Given the description of an element on the screen output the (x, y) to click on. 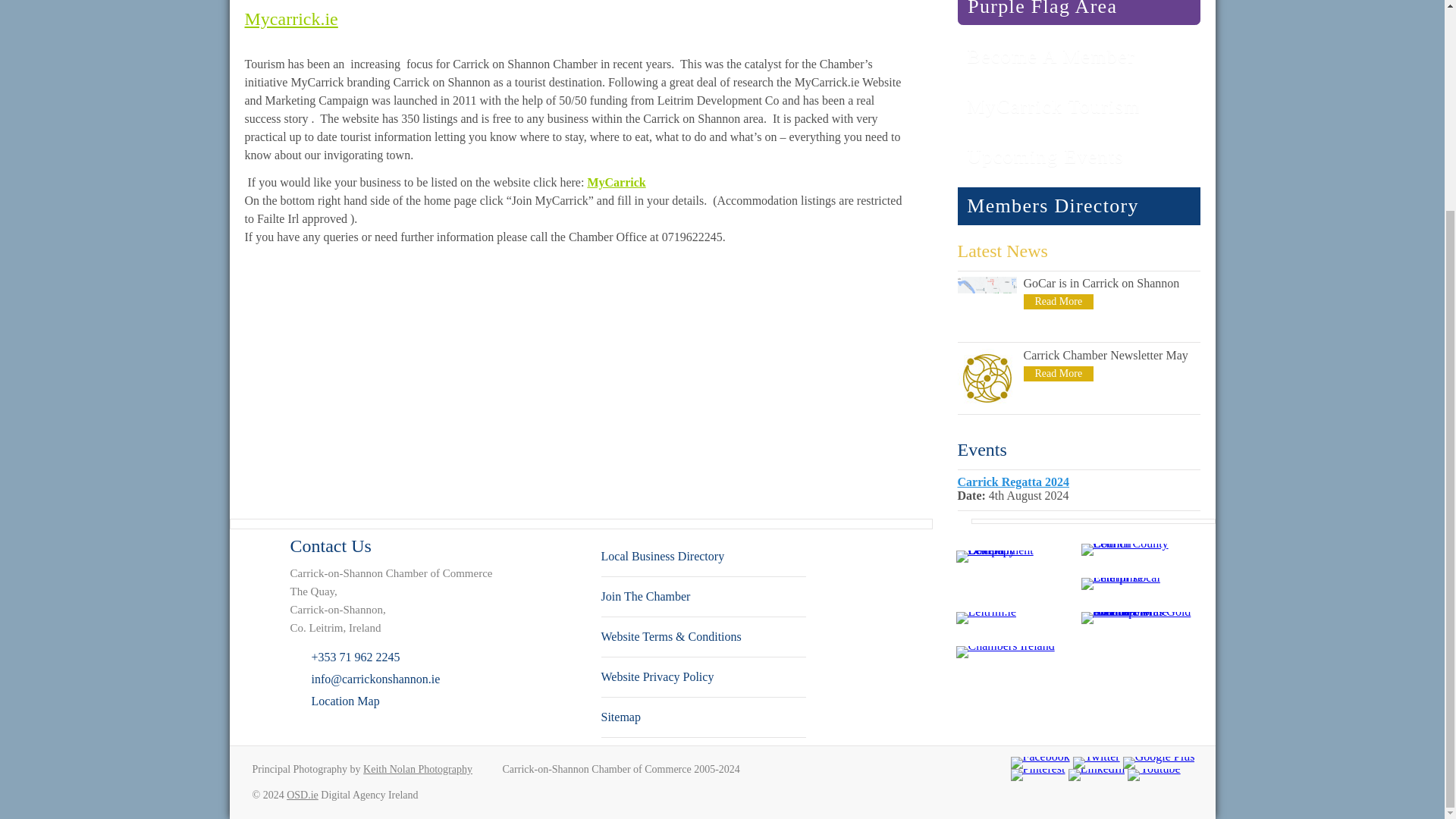
GoCar is in Carrick on Shannon (1058, 301)
Facebook (1039, 762)
Pinterest (1037, 775)
Carrick Chamber Newsletter May (1058, 373)
GoCar is in Carrick on Shannon (986, 331)
Leitrim Local Enterprise (1136, 583)
Google Plus (1158, 762)
Leitrim County Council (1136, 549)
Twitter (1096, 762)
Carrick Chamber Newsletter May (986, 403)
Leitrim Development Company (1010, 549)
Leitrim.ie (985, 617)
Mycarrick.ie (290, 18)
Chambers Ireland (1004, 652)
